Given the description of an element on the screen output the (x, y) to click on. 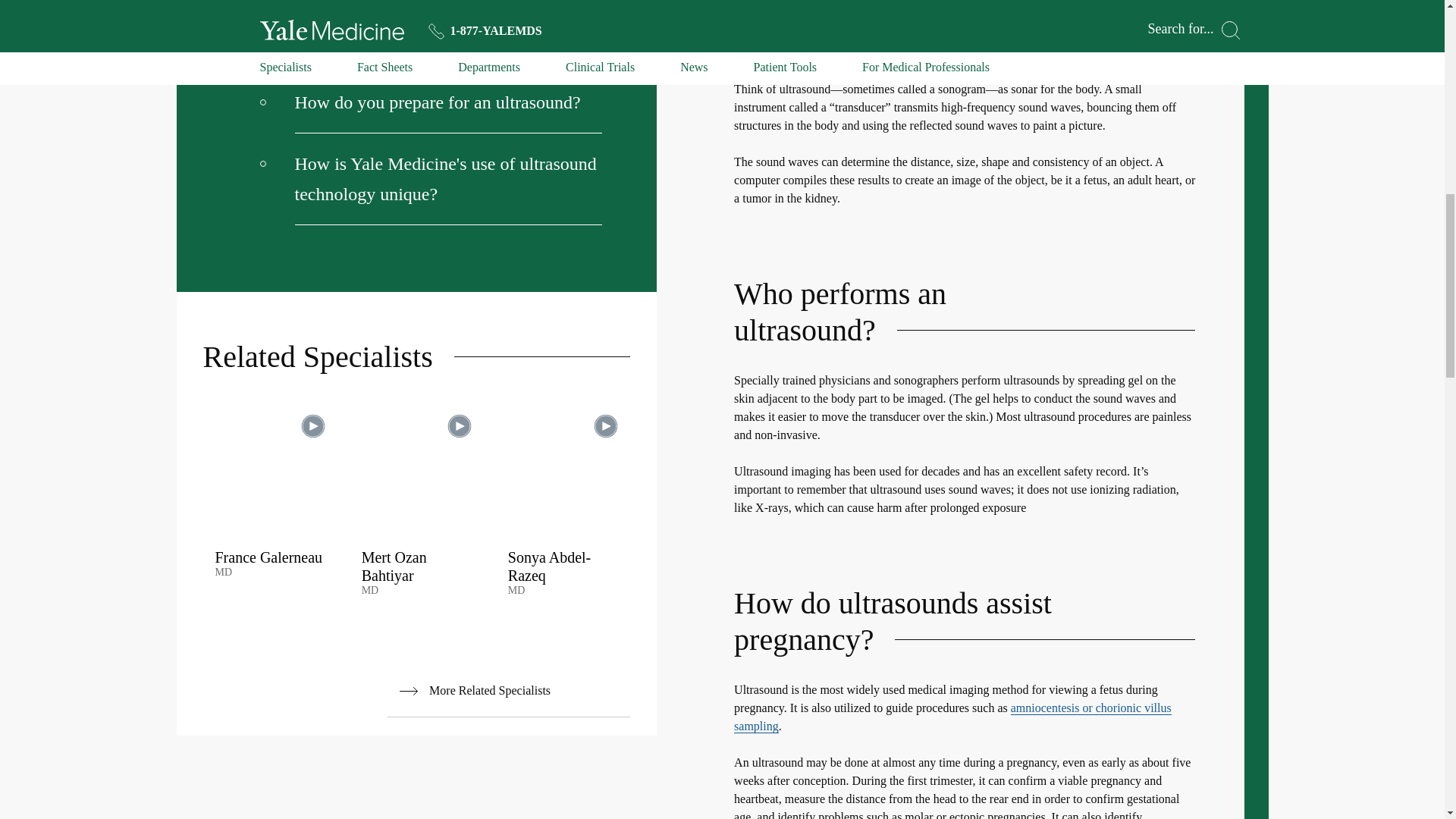
More Related Specialists (508, 691)
How is Yale Medicine's use of ultrasound technology unique? (430, 179)
In what other ways is ultrasound used? (430, 41)
amniocentesis or chorionic villus sampling (952, 717)
How do ultrasounds assist pregnancy? (430, 5)
How do you prepare for an ultrasound? (430, 102)
